Given the description of an element on the screen output the (x, y) to click on. 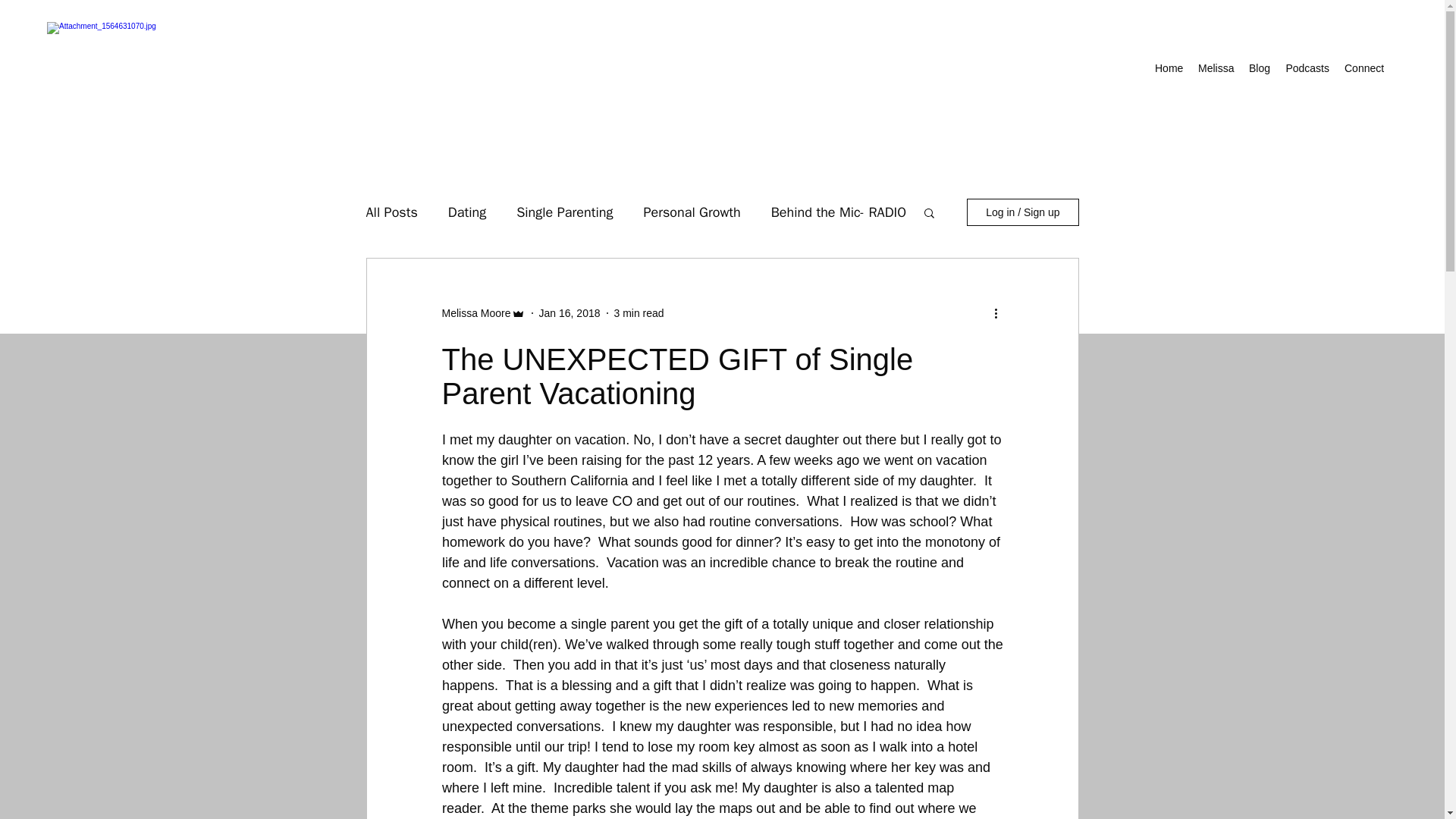
Behind the Mic- RADIO (838, 212)
3 min read (638, 312)
Melissa Moore (476, 312)
Personal Growth (691, 212)
Home (1169, 67)
Melissa (1216, 67)
Dating (467, 212)
Single Parenting (564, 212)
Connect (1363, 67)
Jan 16, 2018 (568, 312)
All Posts (390, 212)
